Given the description of an element on the screen output the (x, y) to click on. 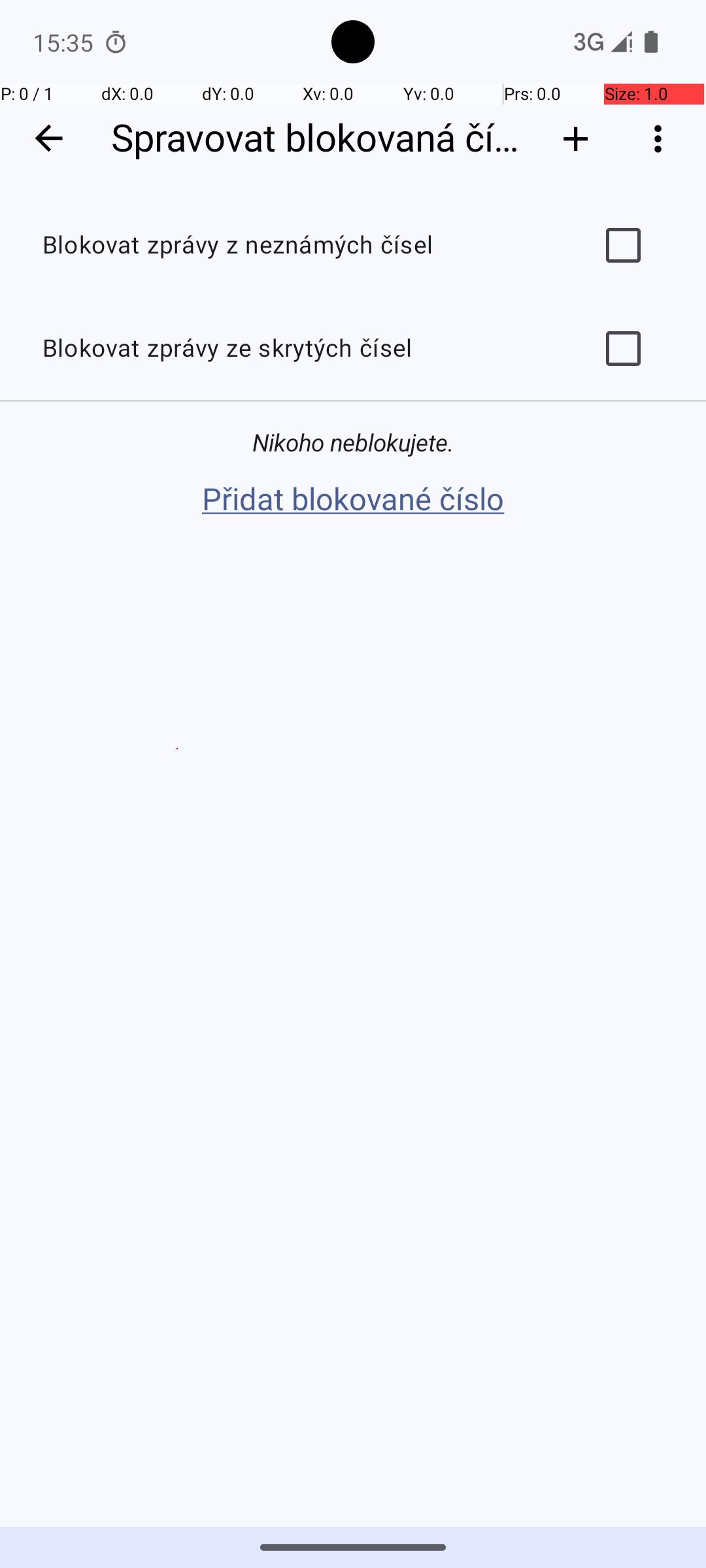
Nikoho neblokujete. Element type: android.widget.TextView (352, 443)
Spravovat blokovaná čísla Element type: android.widget.TextView (318, 138)
Blokovat zprávy z neznámých čísel Element type: android.widget.TextView (297, 244)
Blokovat zprávy ze skrytých čísel Element type: android.widget.TextView (297, 348)
Přidat blokované číslo Element type: android.widget.TextView (352, 499)
Zpět Element type: android.view.View (48, 137)
